Given the description of an element on the screen output the (x, y) to click on. 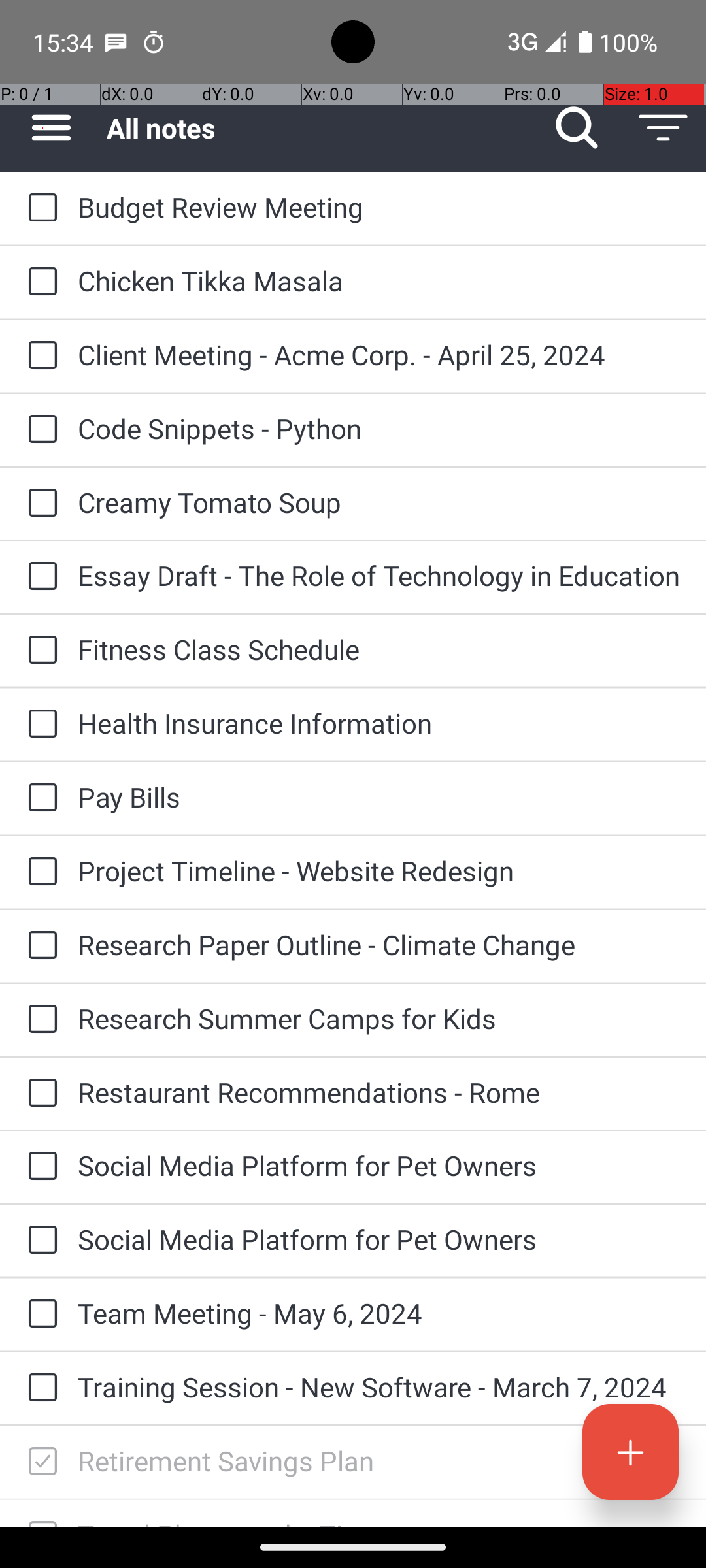
to-do: Budget Review Meeting Element type: android.widget.CheckBox (38, 208)
Budget Review Meeting Element type: android.widget.TextView (378, 206)
to-do: Chicken Tikka Masala Element type: android.widget.CheckBox (38, 282)
Chicken Tikka Masala Element type: android.widget.TextView (378, 280)
to-do: Client Meeting - Acme Corp. - April 25, 2024 Element type: android.widget.CheckBox (38, 356)
Client Meeting - Acme Corp. - April 25, 2024 Element type: android.widget.TextView (378, 354)
to-do: Code Snippets - Python Element type: android.widget.CheckBox (38, 429)
Code Snippets - Python Element type: android.widget.TextView (378, 427)
to-do: Creamy Tomato Soup Element type: android.widget.CheckBox (38, 503)
Creamy Tomato Soup Element type: android.widget.TextView (378, 501)
to-do: Fitness Class Schedule Element type: android.widget.CheckBox (38, 650)
Fitness Class Schedule Element type: android.widget.TextView (378, 648)
to-do: Health Insurance Information Element type: android.widget.CheckBox (38, 724)
Health Insurance Information Element type: android.widget.TextView (378, 722)
to-do: Pay Bills Element type: android.widget.CheckBox (38, 798)
Pay Bills Element type: android.widget.TextView (378, 796)
to-do: Project Timeline - Website Redesign Element type: android.widget.CheckBox (38, 872)
Project Timeline - Website Redesign Element type: android.widget.TextView (378, 870)
to-do: Research Paper Outline - Climate Change Element type: android.widget.CheckBox (38, 945)
Research Paper Outline - Climate Change Element type: android.widget.TextView (378, 944)
to-do: Research Summer Camps for Kids Element type: android.widget.CheckBox (38, 1019)
Research Summer Camps for Kids Element type: android.widget.TextView (378, 1017)
to-do: Restaurant Recommendations - Rome Element type: android.widget.CheckBox (38, 1093)
Restaurant Recommendations - Rome Element type: android.widget.TextView (378, 1091)
to-do: Social Media Platform for Pet Owners Element type: android.widget.CheckBox (38, 1166)
Social Media Platform for Pet Owners Element type: android.widget.TextView (378, 1164)
to-do: Team Meeting - May 6, 2024 Element type: android.widget.CheckBox (38, 1314)
Team Meeting - May 6, 2024 Element type: android.widget.TextView (378, 1312)
to-do: Training Session - New Software - March 7, 2024 Element type: android.widget.CheckBox (38, 1388)
Training Session - New Software - March 7, 2024 Element type: android.widget.TextView (378, 1386)
to-do: Retirement Savings Plan Element type: android.widget.CheckBox (38, 1462)
Retirement Savings Plan Element type: android.widget.TextView (378, 1460)
to-do: Travel Photography Tips Element type: android.widget.CheckBox (38, 1513)
Travel Photography Tips Element type: android.widget.TextView (378, 1520)
 Element type: android.widget.TextView (42, 1462)
